Given the description of an element on the screen output the (x, y) to click on. 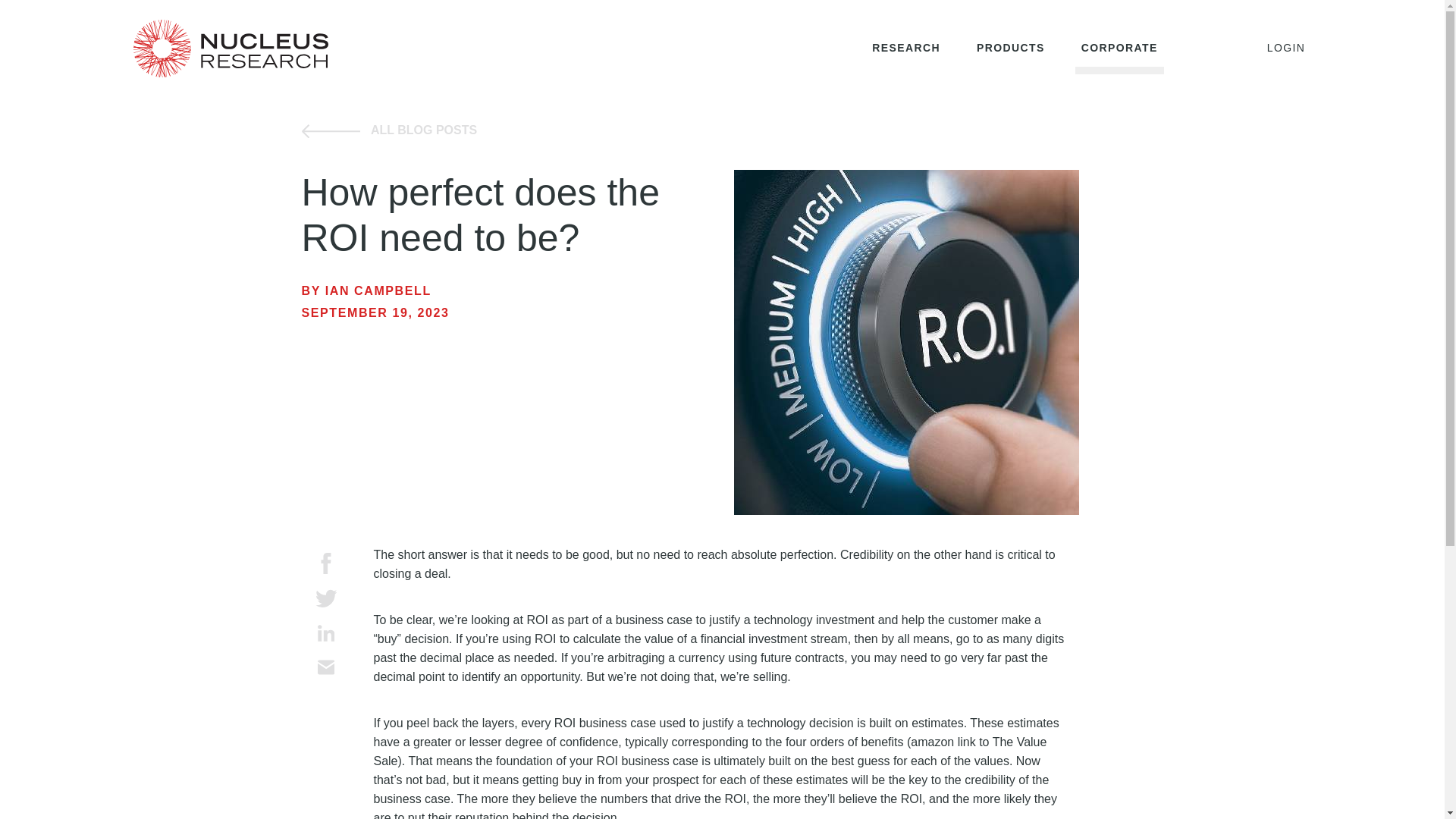
Share on Facebook (325, 563)
CORPORATE (1119, 48)
RESEARCH (906, 48)
Share via Email (325, 666)
PRODUCTS (1011, 48)
